Given the description of an element on the screen output the (x, y) to click on. 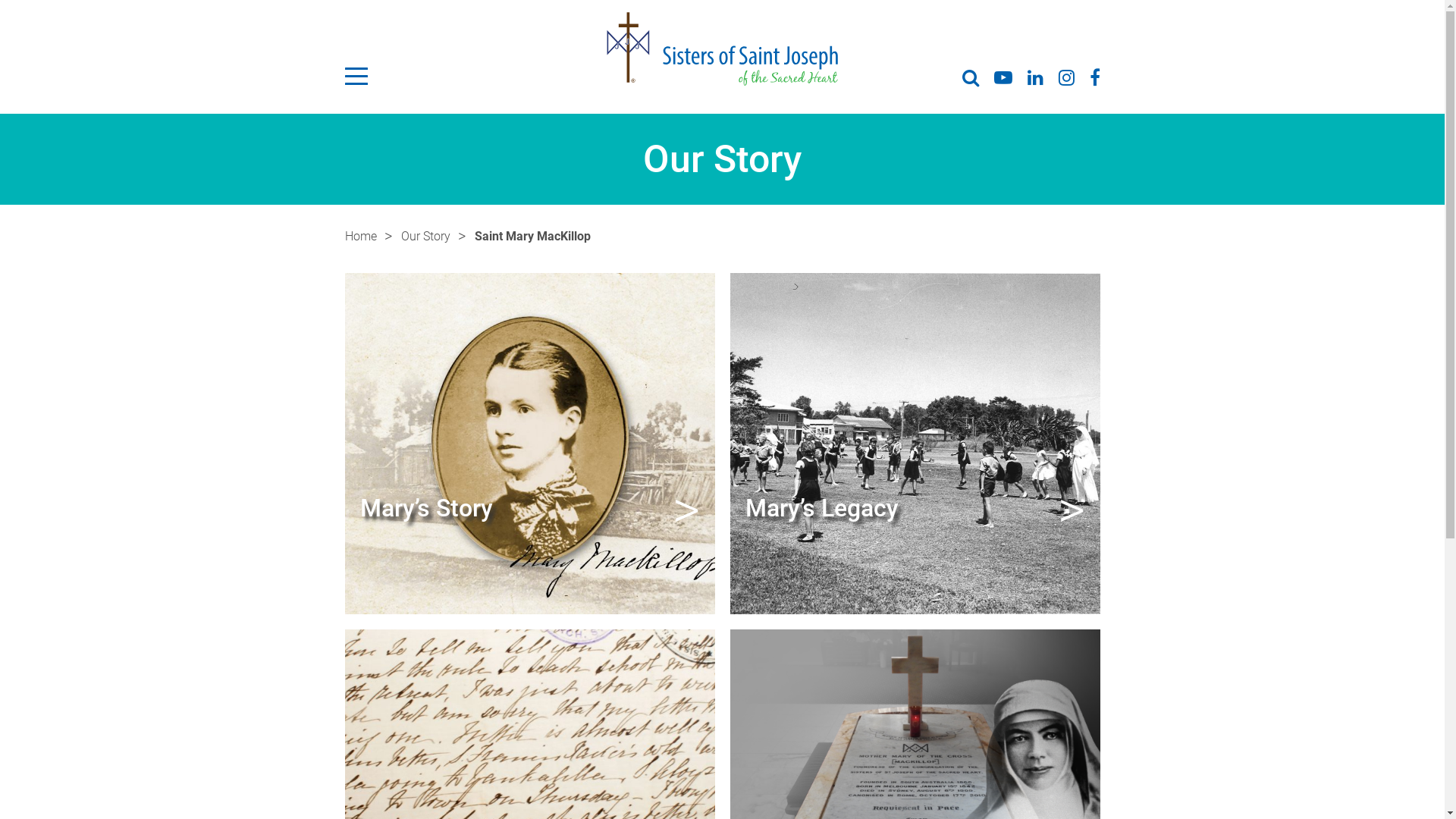
Home Element type: text (360, 236)
Our Story Element type: text (424, 236)
